Given the description of an element on the screen output the (x, y) to click on. 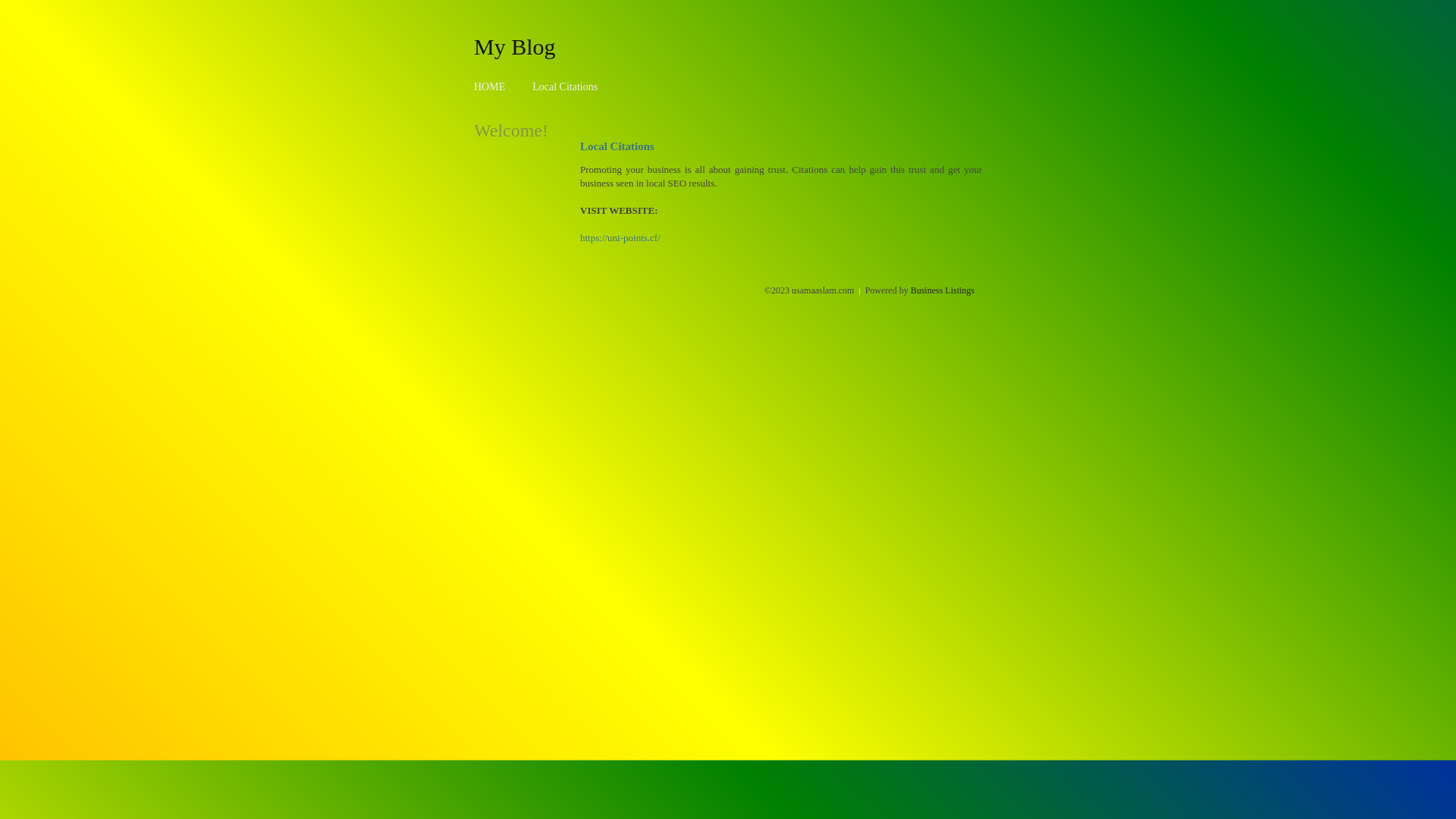
Business Listings Element type: text (942, 290)
My Blog Element type: text (514, 46)
HOME Element type: text (489, 86)
https://uni-points.cf/ Element type: text (620, 237)
Local Citations Element type: text (564, 86)
